Given the description of an element on the screen output the (x, y) to click on. 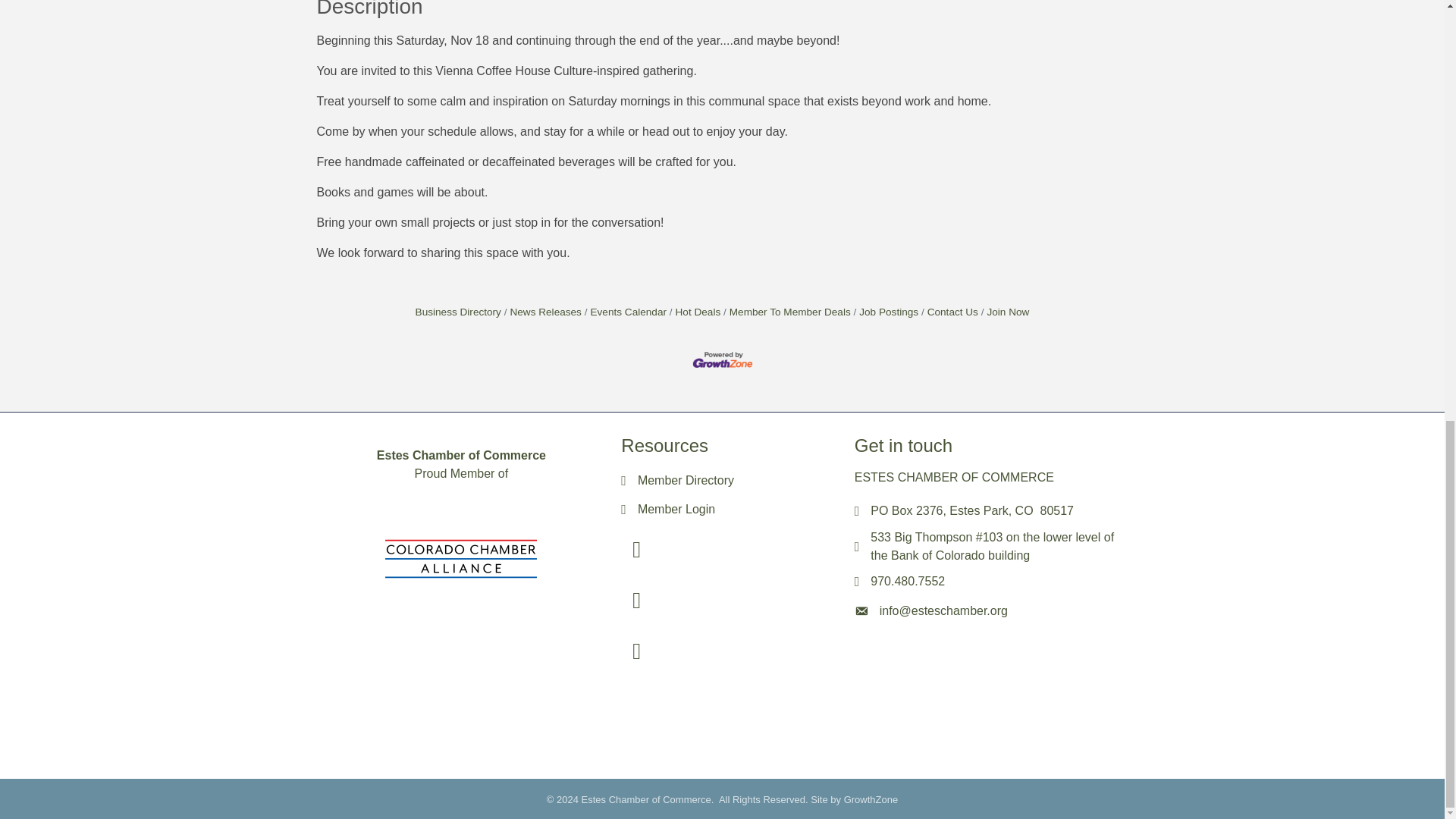
Colorado Chamber Alliance (461, 558)
